Given the description of an element on the screen output the (x, y) to click on. 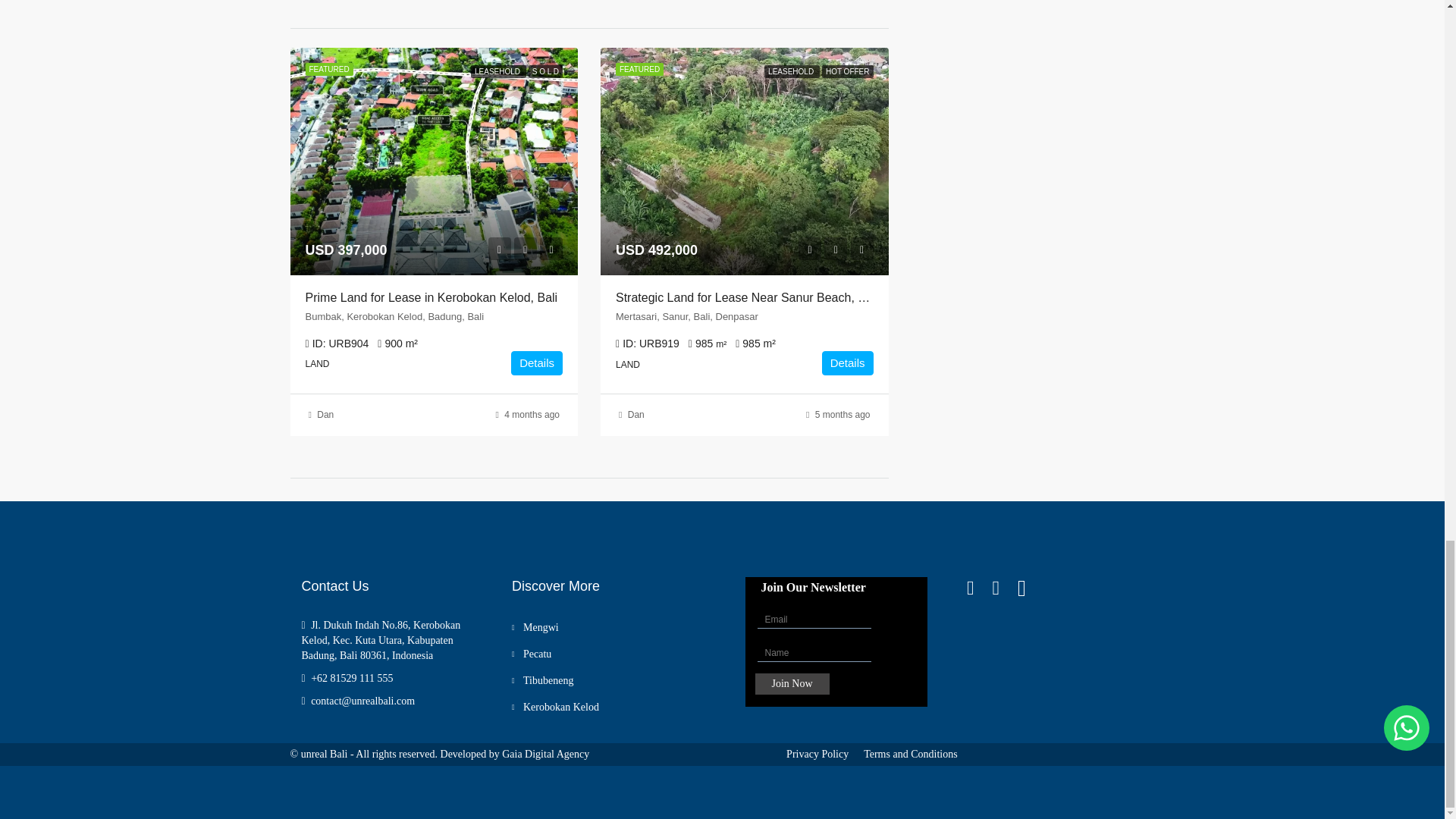
Follow us on Instagram (1004, 587)
Join Now (792, 683)
Follow us on Facebook (979, 587)
Follow us on Youtube (1030, 587)
